Given the description of an element on the screen output the (x, y) to click on. 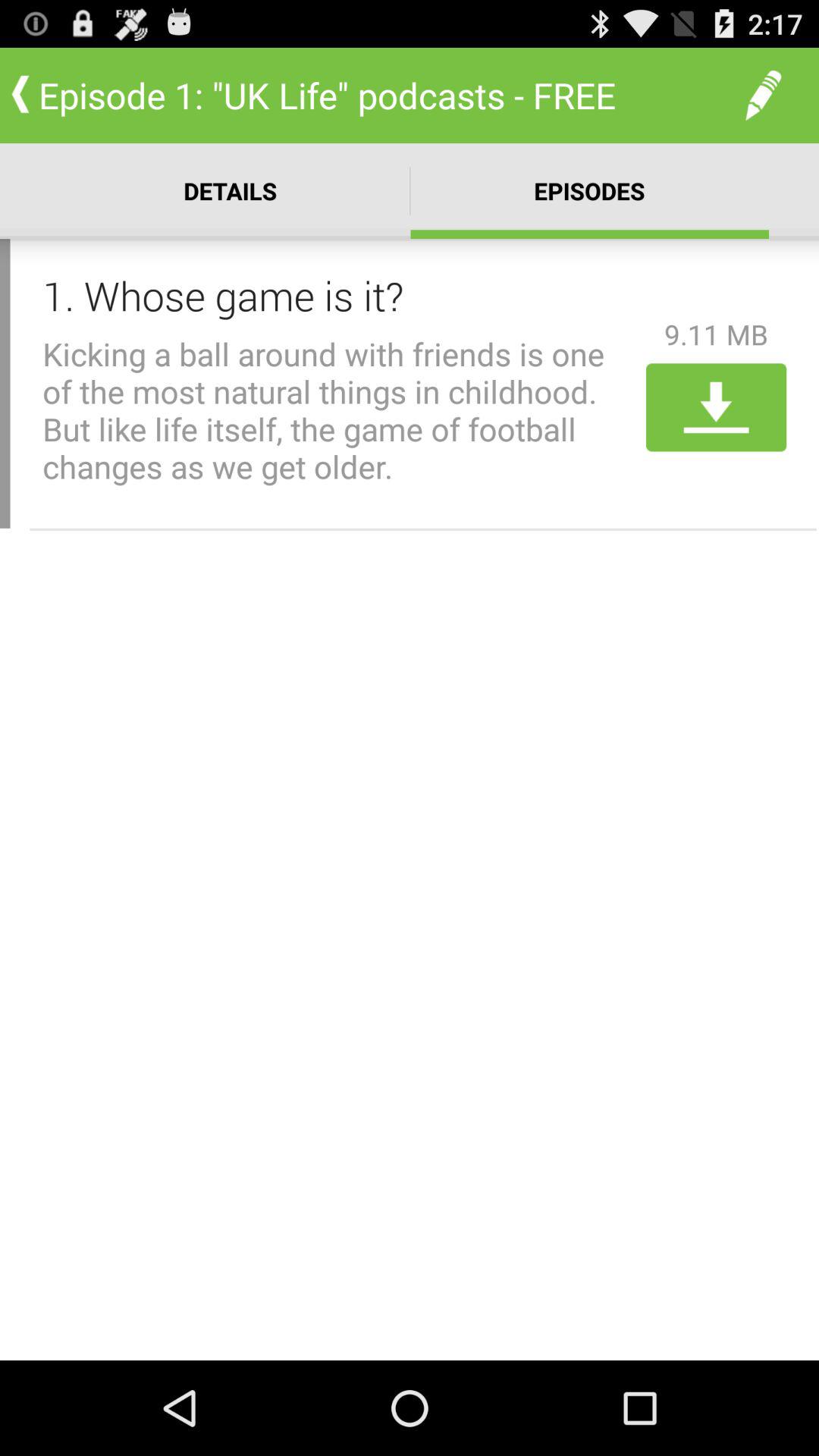
tap icon next to the 9.11 mb app (338, 295)
